Given the description of an element on the screen output the (x, y) to click on. 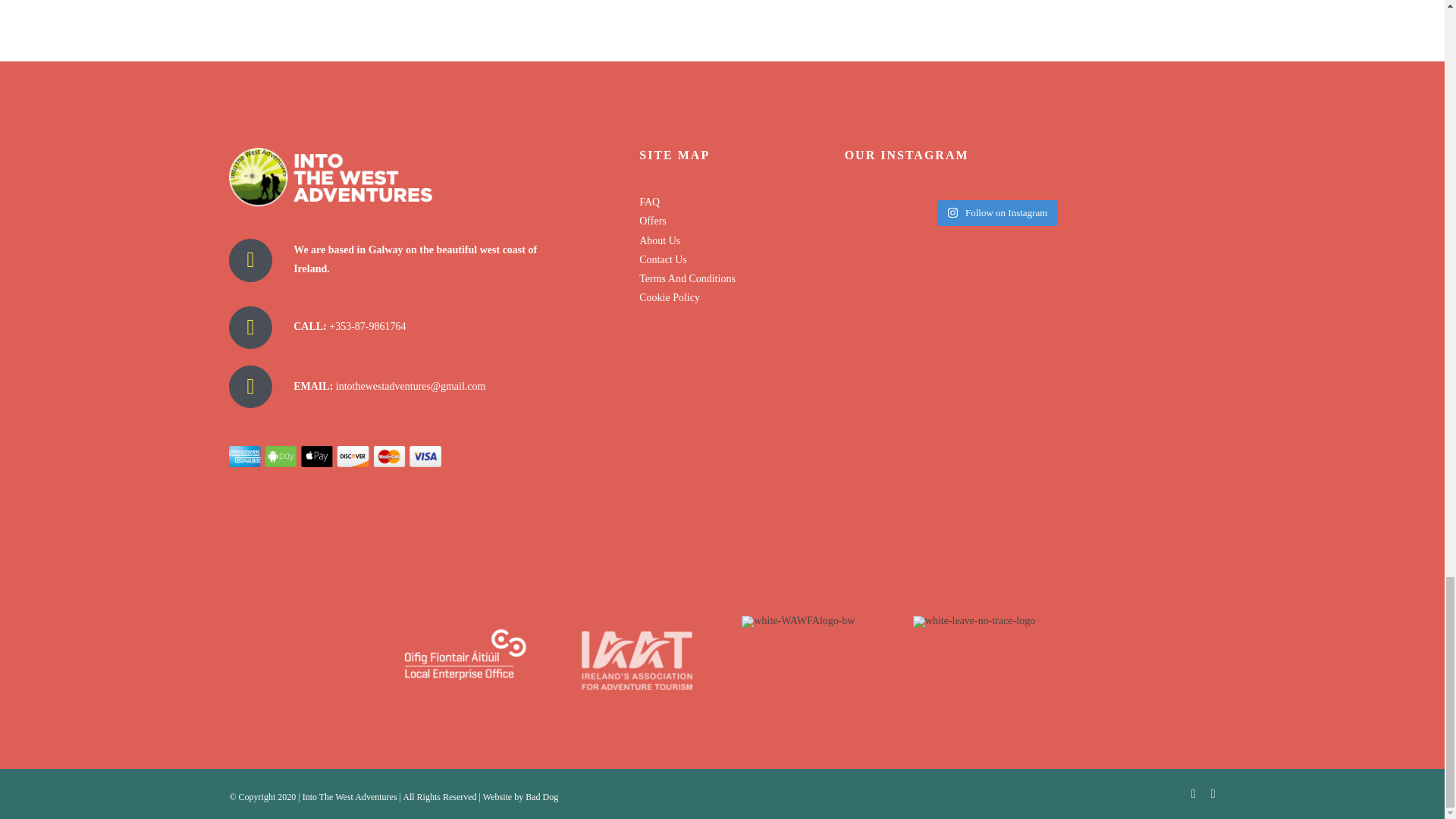
white-WAWFAlogo-bw (797, 621)
white-leave-no-trace-logo (973, 621)
Facebook (1193, 793)
WHITE-IAAT-logo copy (635, 660)
Payment Options (334, 455)
white-LEO-copy (465, 660)
Group300px-white (330, 177)
